Given the description of an element on the screen output the (x, y) to click on. 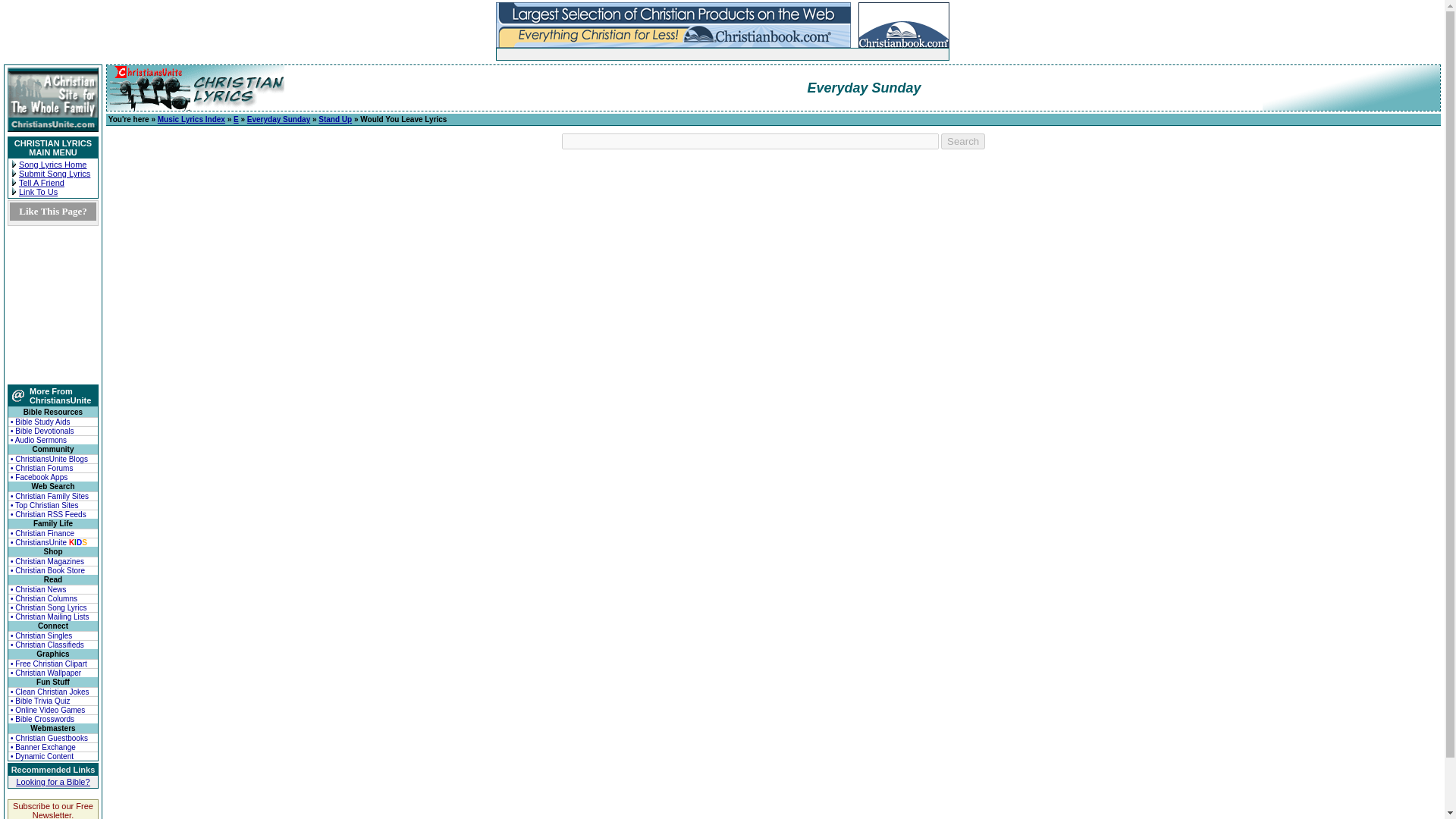
Submit Song Lyrics (54, 173)
Song Lyrics Home (51, 163)
Music Lyrics Index (191, 119)
Advertisement (673, 53)
Stand Up (335, 119)
Search (962, 141)
Tell A Friend (41, 182)
Looking for a Bible? (52, 781)
Link To Us (38, 191)
Everyday Sunday (278, 119)
